Given the description of an element on the screen output the (x, y) to click on. 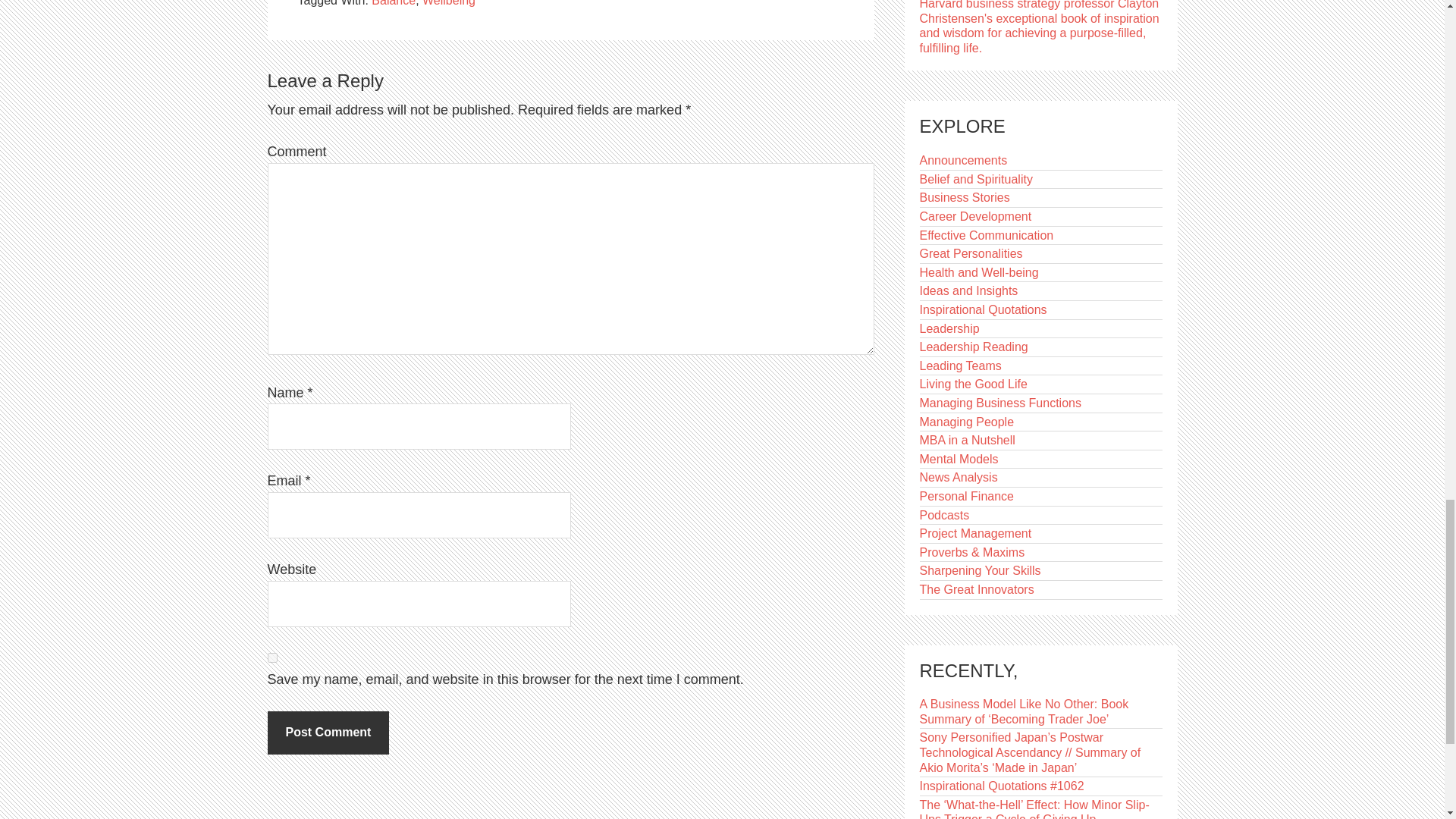
Wellbeing (449, 3)
yes (271, 657)
How Will You Measure Your Life: Clayton Christensen (1038, 27)
Post Comment (327, 732)
Balance (392, 3)
Post Comment (327, 732)
